Given the description of an element on the screen output the (x, y) to click on. 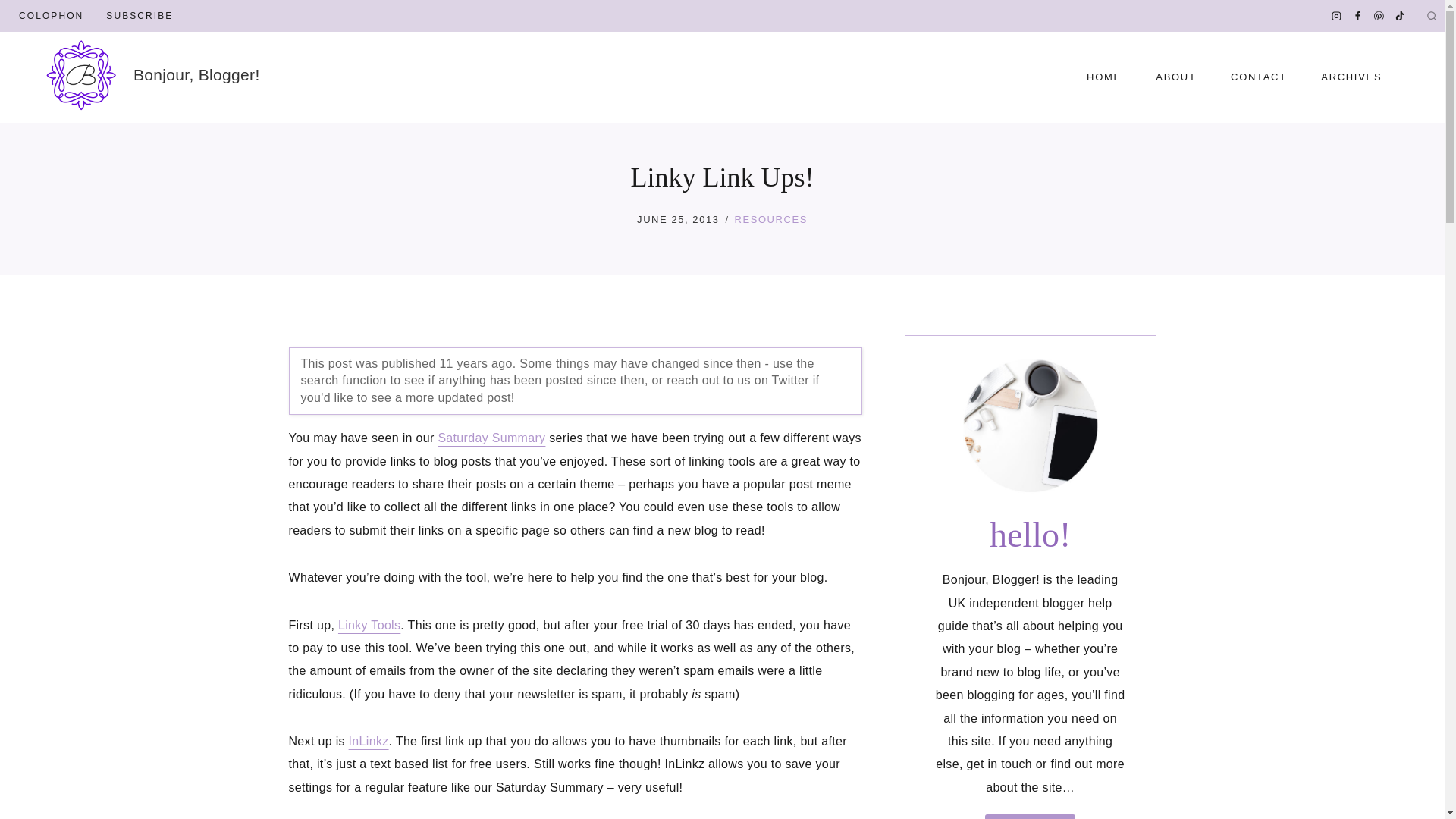
Saturday Summary (491, 437)
ABOUT (1176, 77)
Linky Tools (368, 625)
ARCHIVES (1351, 77)
RESOURCES (771, 219)
Bonjour, Blogger! (152, 74)
SUBSCRIBE (139, 16)
CONTACT (1257, 77)
InLinkz (368, 740)
COLOPHON (50, 16)
HOME (1103, 77)
Saturday Summary (491, 437)
